Given the description of an element on the screen output the (x, y) to click on. 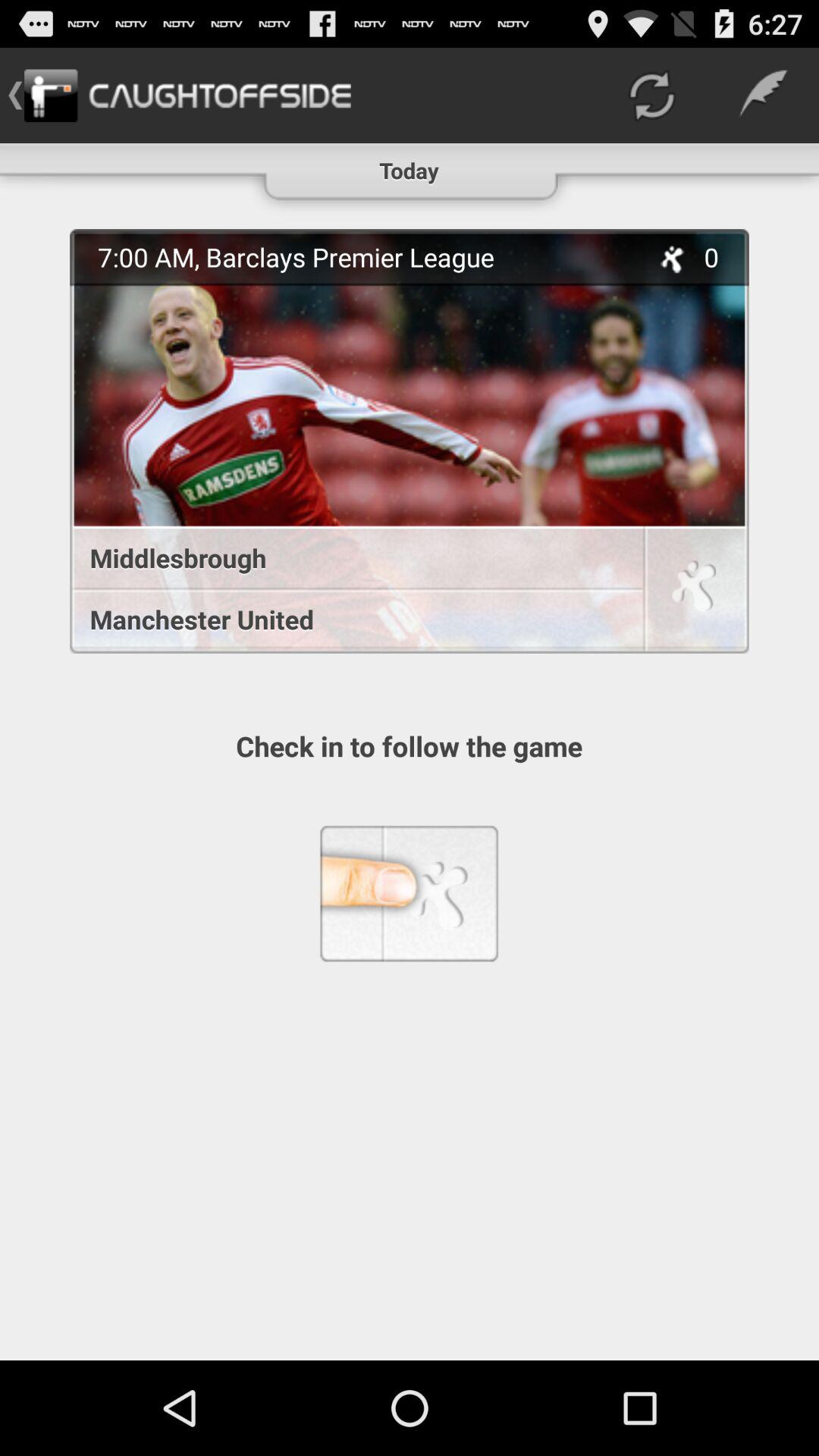
launch 0 item (720, 256)
